Given the description of an element on the screen output the (x, y) to click on. 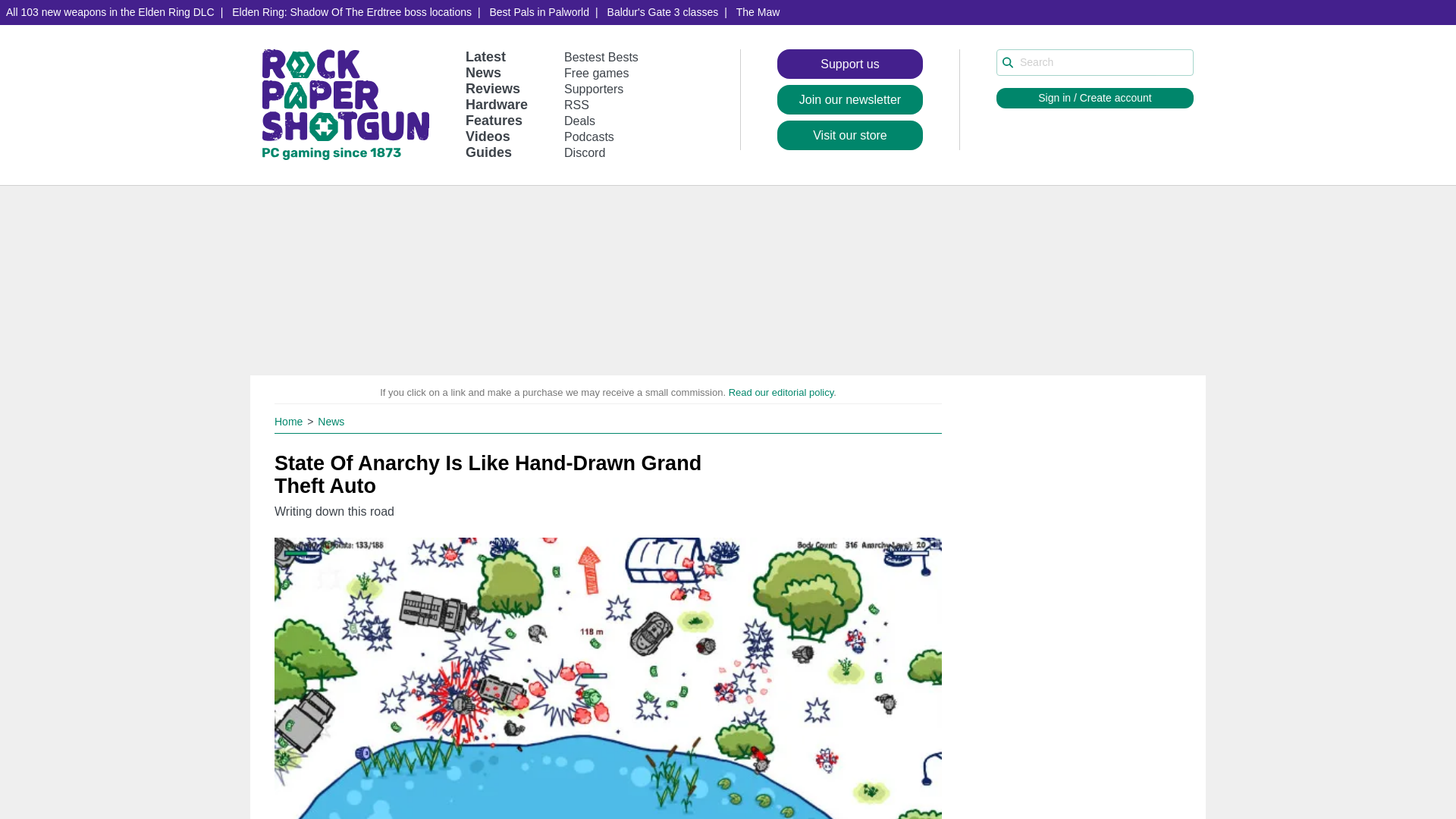
Guides (488, 151)
Bestest Bests (601, 56)
Free games (596, 72)
News (330, 421)
Baldur's Gate 3 classes (663, 12)
Hardware (496, 104)
Features (493, 120)
Podcasts (589, 136)
Read our editorial policy (781, 392)
Supporters (593, 88)
The Maw (758, 12)
Home (290, 421)
Reviews (492, 88)
Features (493, 120)
Support us (850, 63)
